Given the description of an element on the screen output the (x, y) to click on. 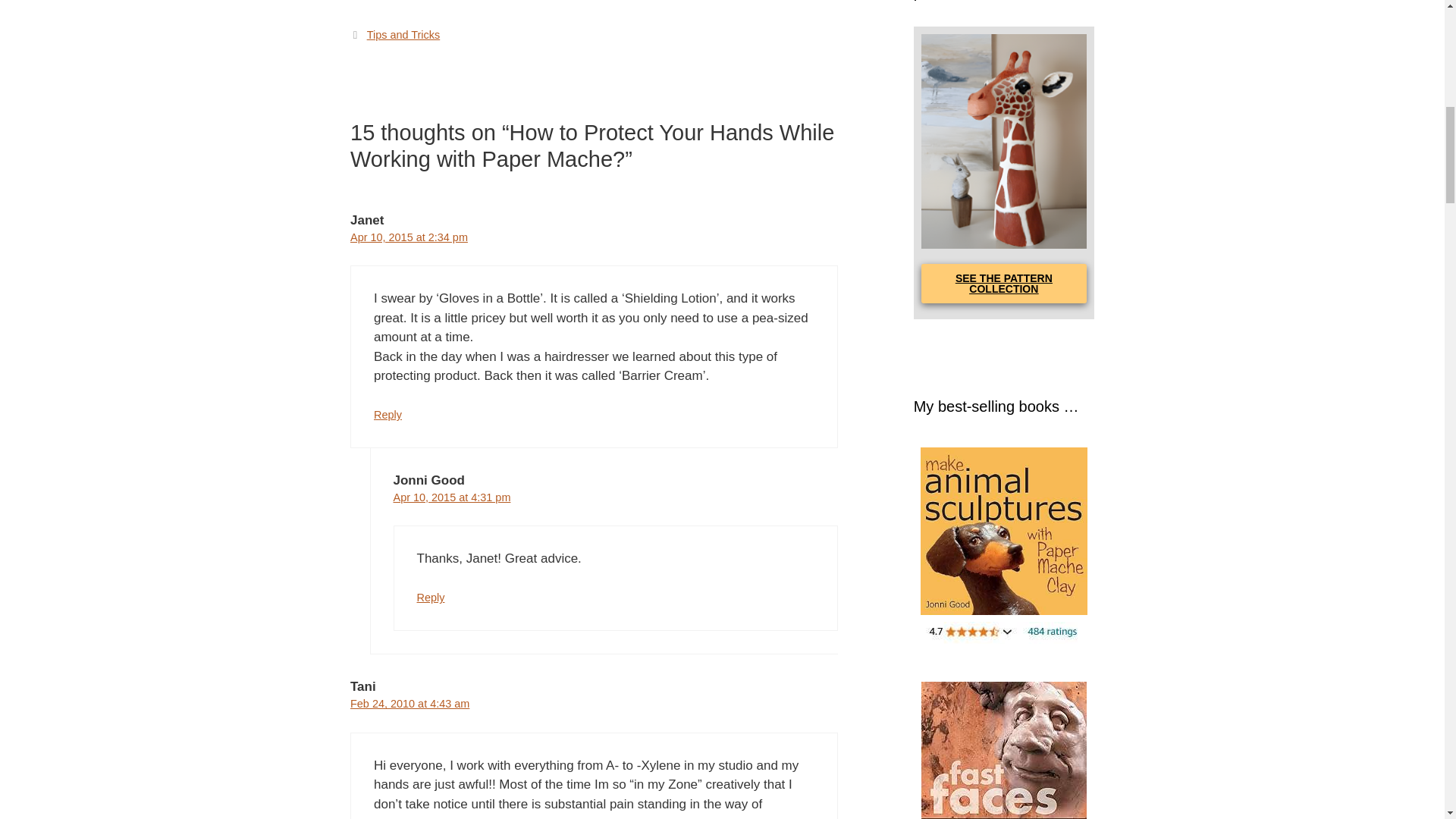
Feb 24, 2010 at 4:43 am (409, 703)
Reply (430, 597)
Tips and Tricks (403, 34)
Apr 10, 2015 at 4:31 pm (452, 497)
Reply (387, 414)
Apr 10, 2015 at 2:34 pm (408, 236)
